Given the description of an element on the screen output the (x, y) to click on. 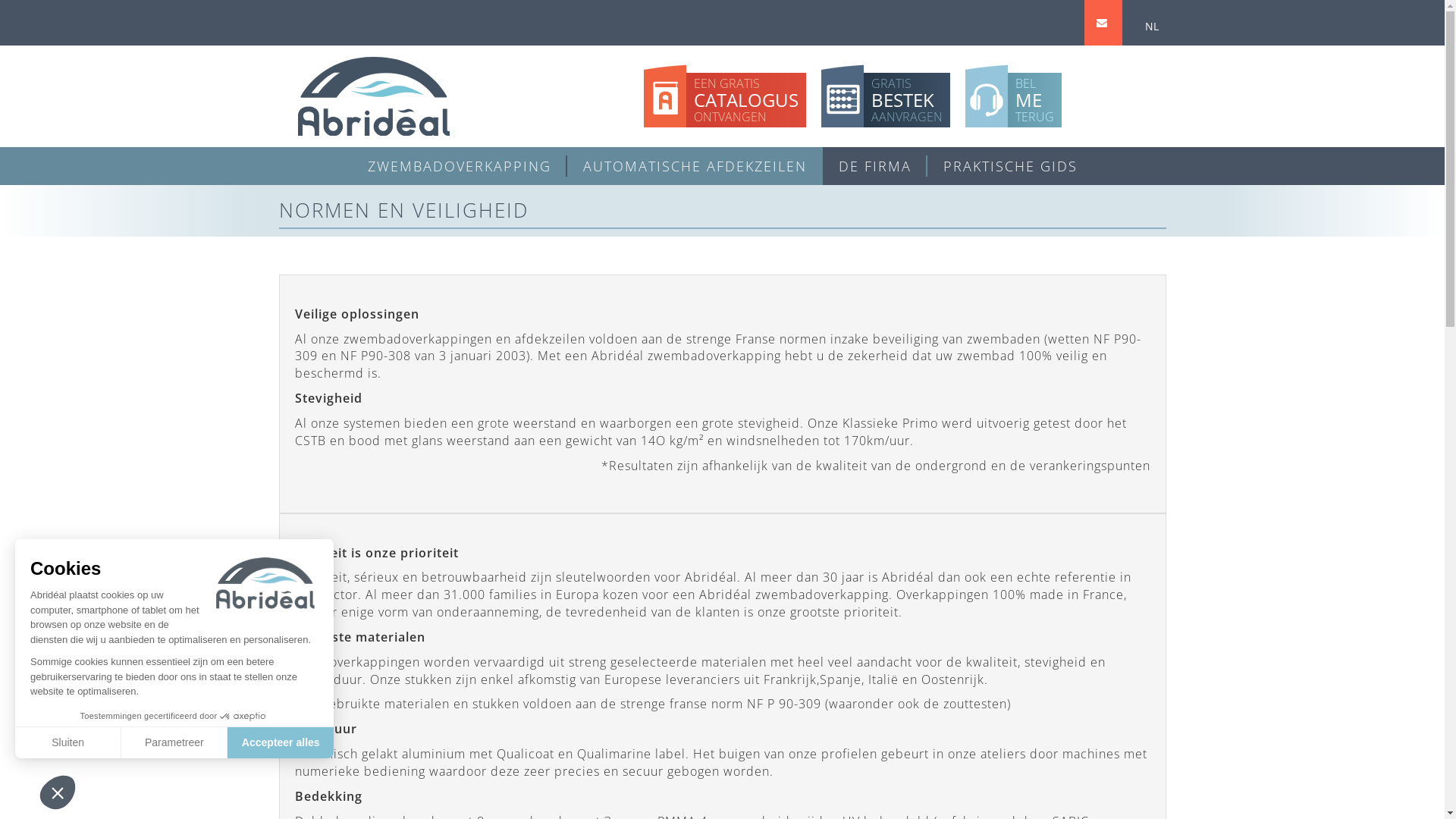
DE FIRMA Element type: text (874, 166)
Accepteer alles Element type: text (280, 742)
Toestemmingen gecertificeerd door Element type: text (174, 716)
AUTOMATISCHE AFDEKZEILEN Element type: text (694, 166)
Fermer le widget sans consentement Element type: hover (57, 792)
CONTACT Element type: text (1103, 24)
Parametreer Element type: text (174, 742)
ZWEMBADOVERKAPPING Element type: text (459, 166)
Sluiten Element type: text (68, 742)
PRAKTISCHE GIDS Element type: text (1009, 166)
